Given the description of an element on the screen output the (x, y) to click on. 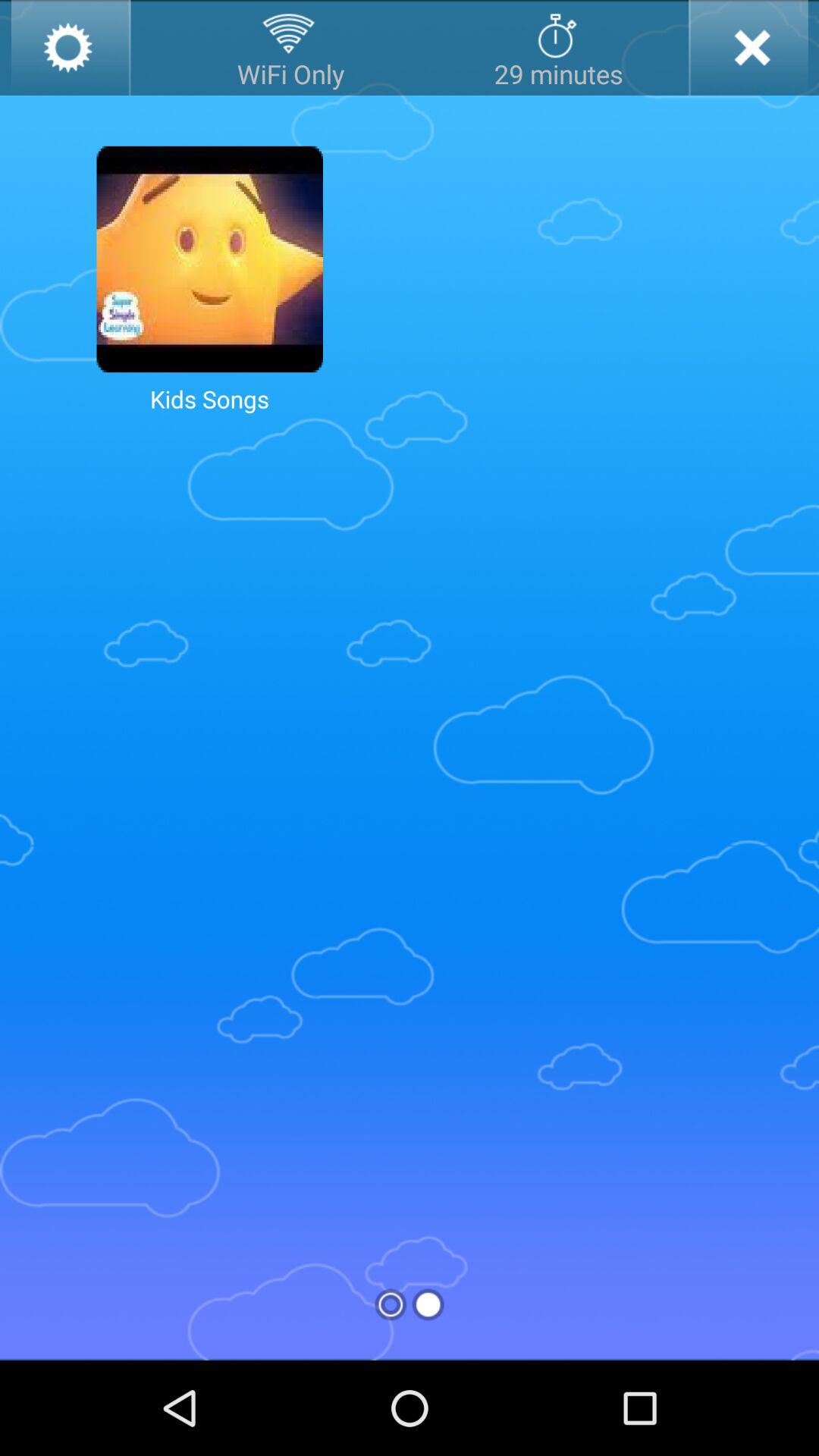
close app (748, 47)
